Given the description of an element on the screen output the (x, y) to click on. 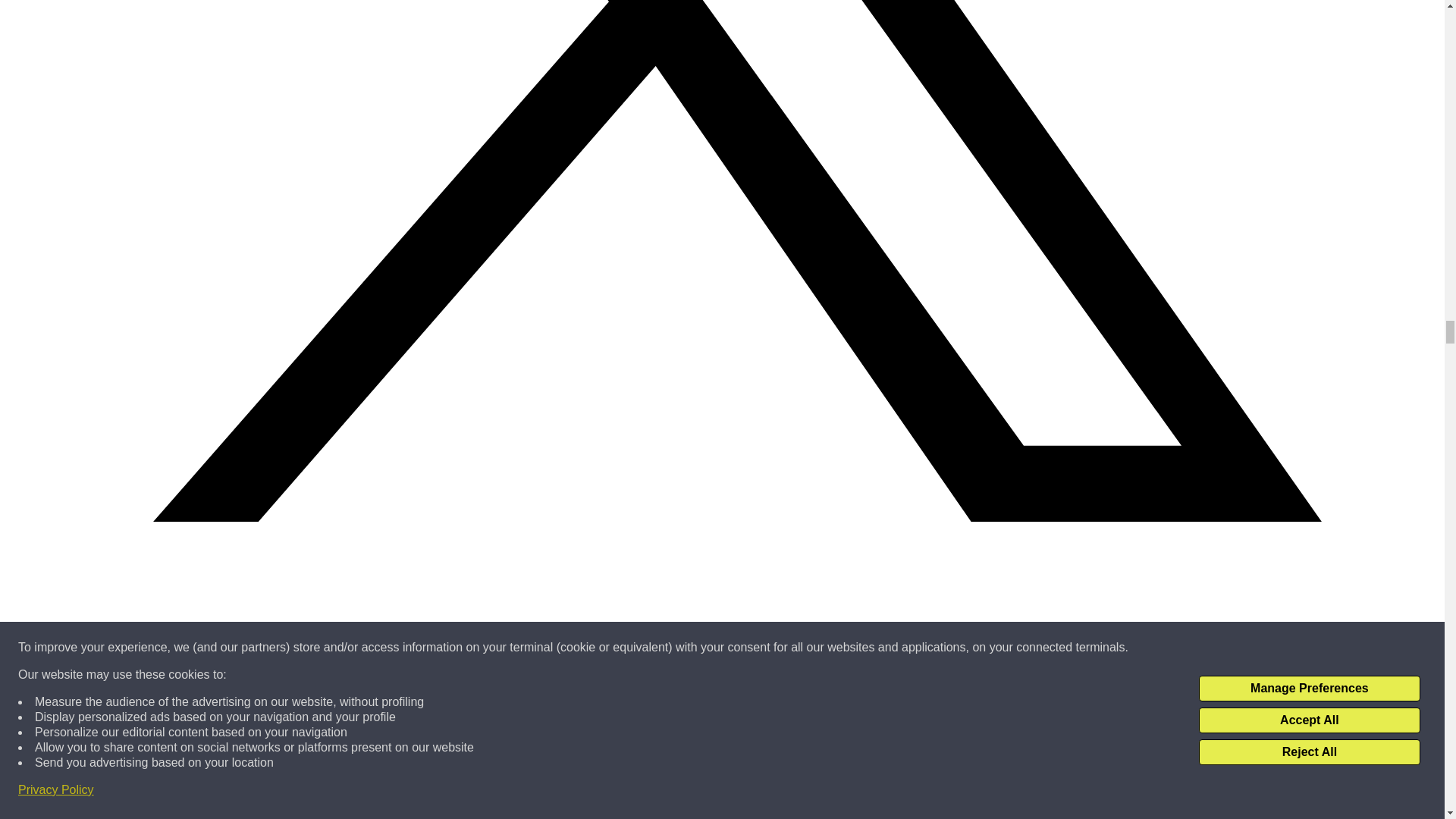
SEARCH (167, 675)
SEARCH (167, 675)
